Given the description of an element on the screen output the (x, y) to click on. 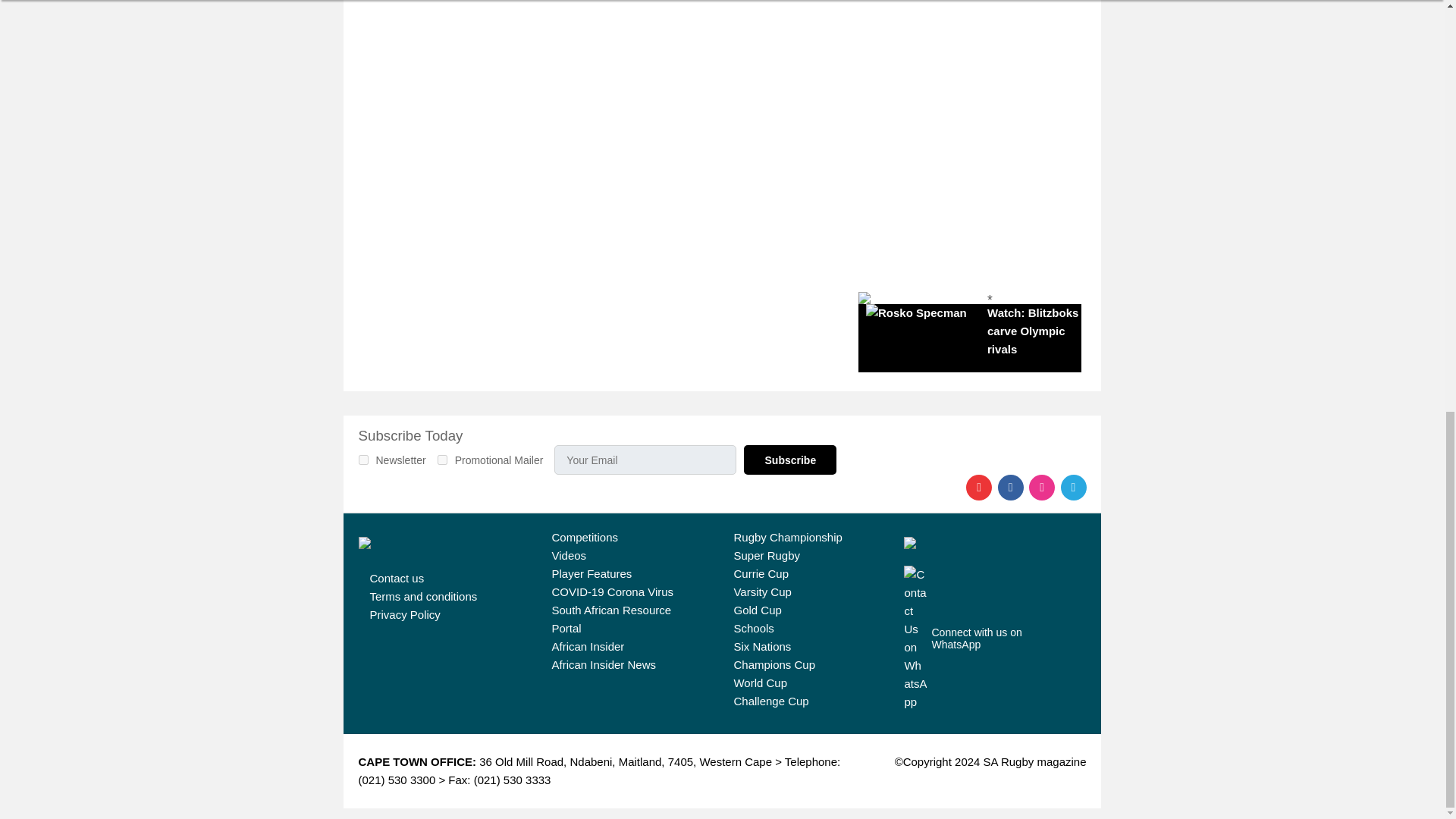
Subscribe (789, 460)
19011 (442, 460)
18751 (363, 460)
